Given the description of an element on the screen output the (x, y) to click on. 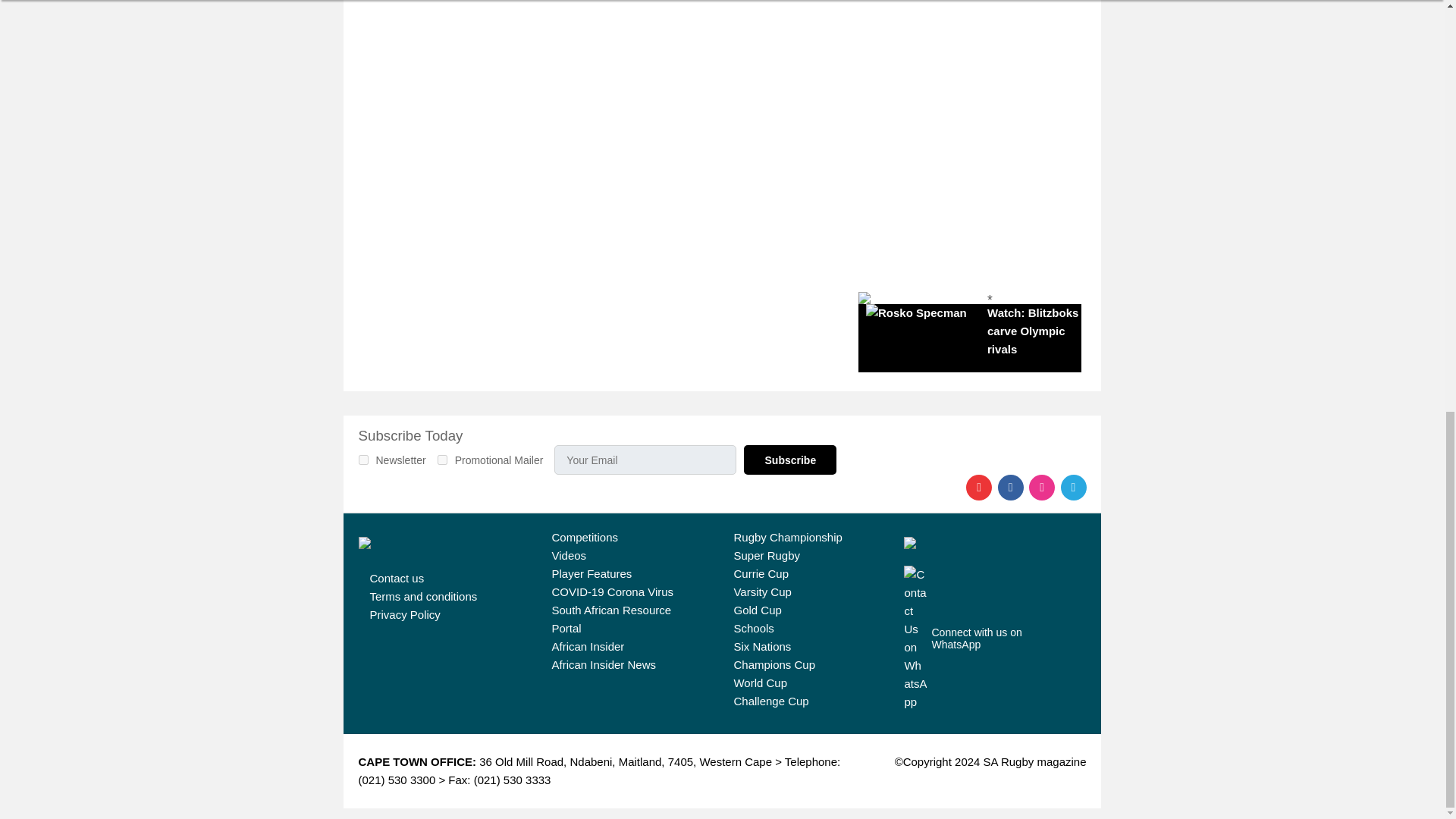
Subscribe (789, 460)
19011 (442, 460)
18751 (363, 460)
